Given the description of an element on the screen output the (x, y) to click on. 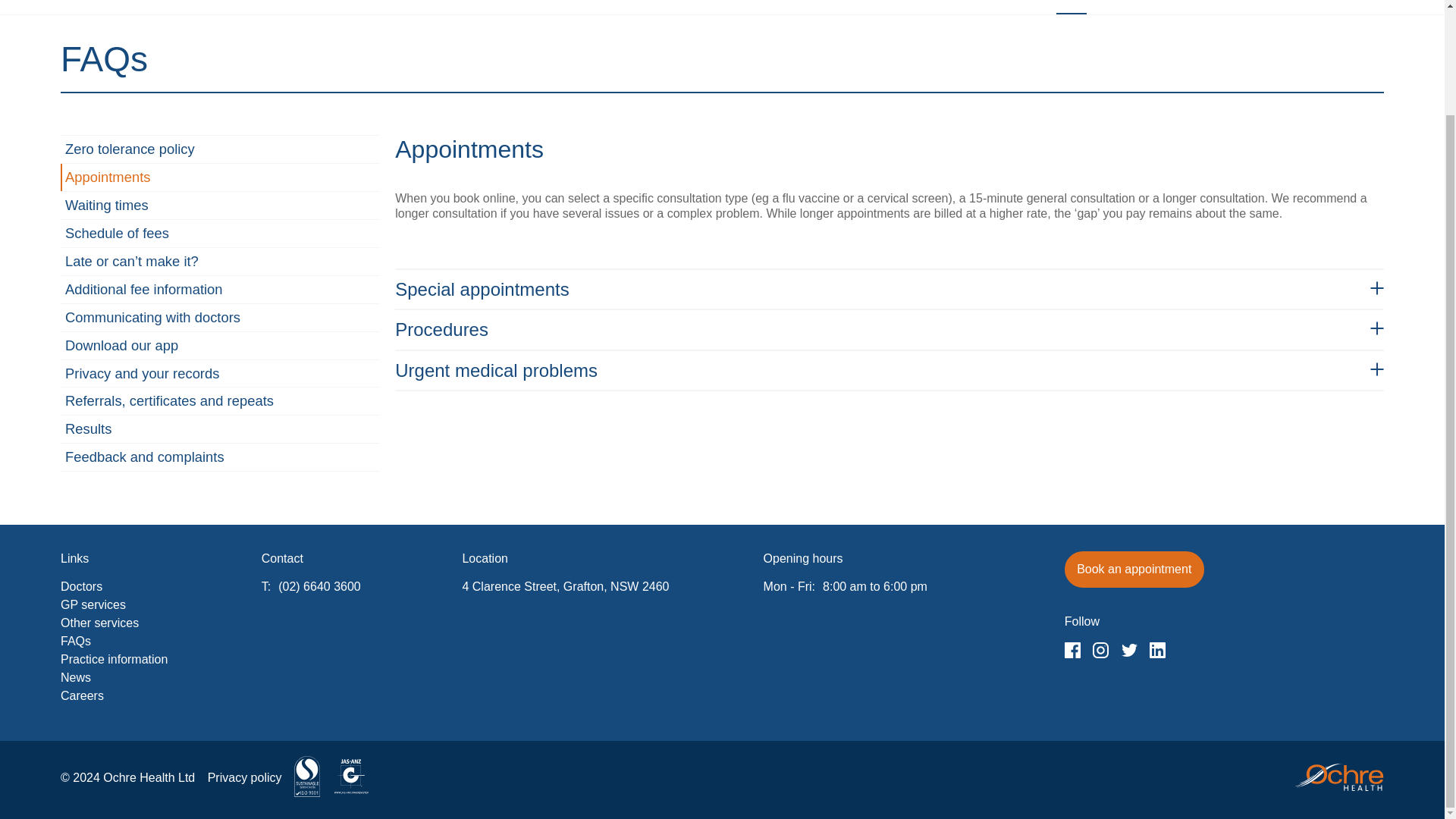
News (1277, 7)
Referrals, certificates and repeats (220, 401)
Procedures (889, 329)
Special appointments (889, 289)
Practice information (1174, 7)
Waiting times (220, 205)
Schedule of fees (220, 233)
FAQs (1071, 7)
Results (220, 429)
Feedback and complaints (220, 456)
